Given the description of an element on the screen output the (x, y) to click on. 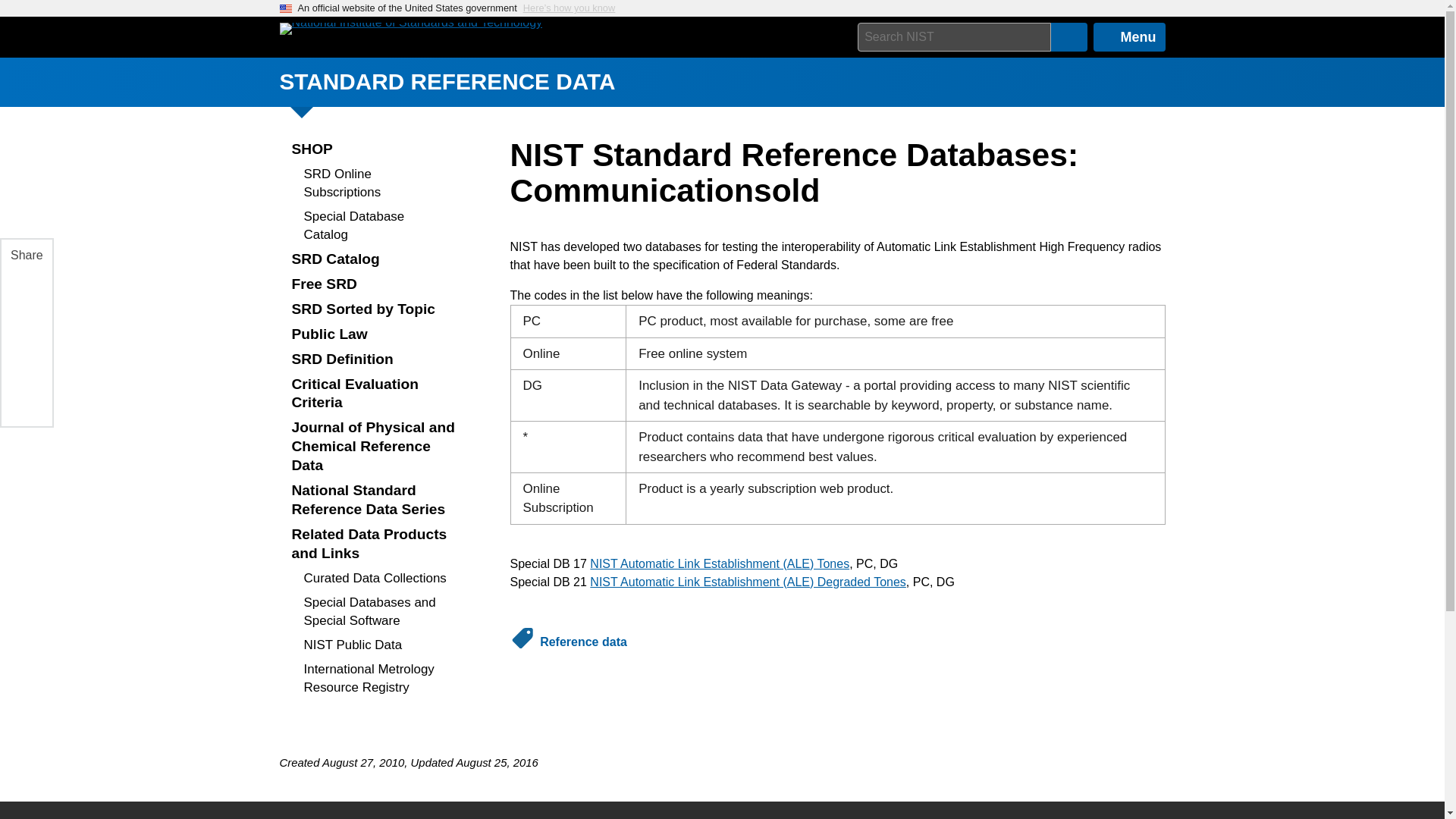
Email (25, 396)
Linkedin (25, 325)
Menu (1129, 36)
Twitter (25, 360)
Facebook (25, 289)
National Institute of Standards and Technology (410, 28)
